Given the description of an element on the screen output the (x, y) to click on. 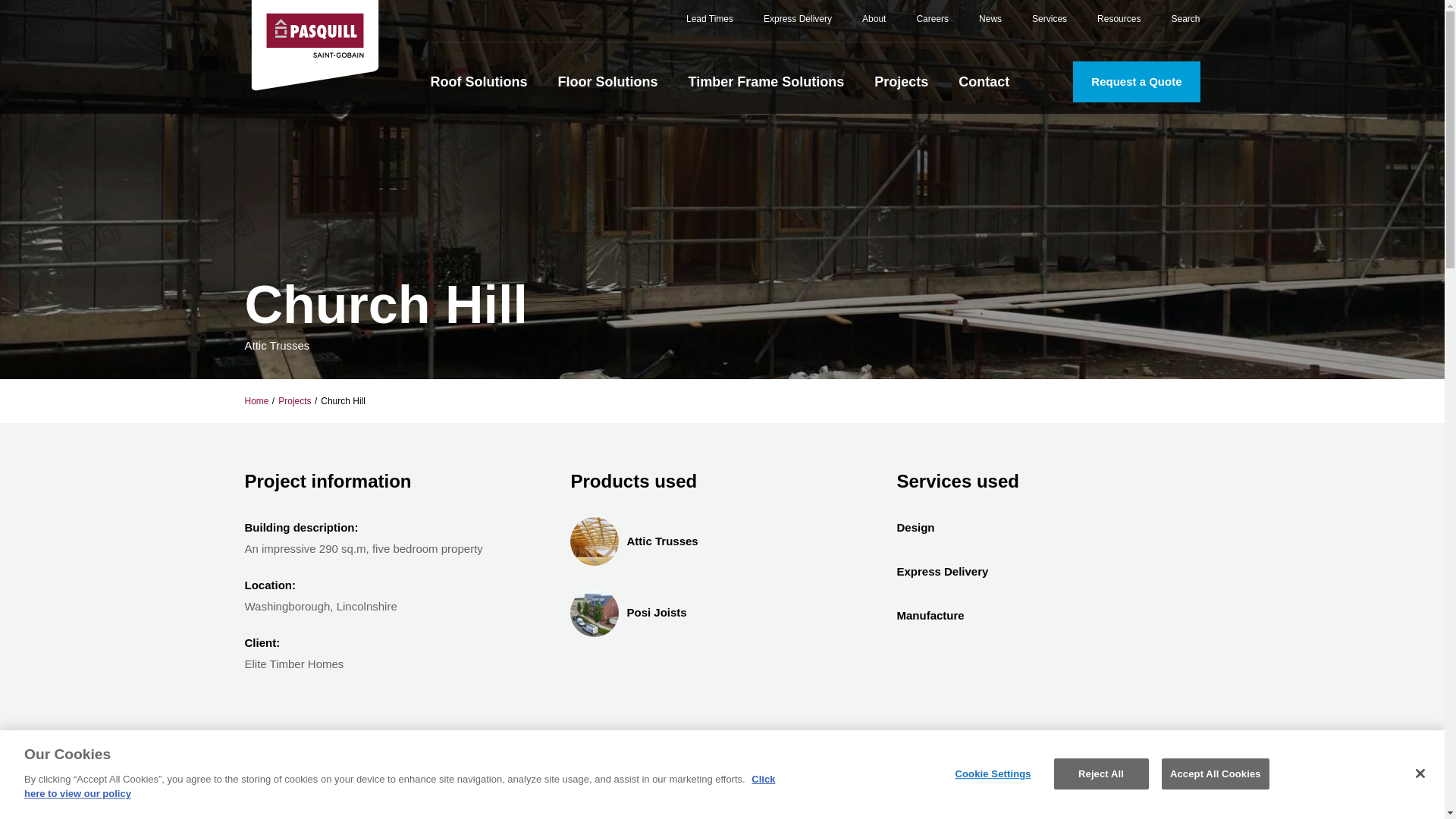
Search (1184, 25)
Services (1049, 25)
Lead Times (709, 25)
Express Delivery (796, 25)
Request a Quote (1136, 81)
Roof Solutions (478, 81)
Resources (1118, 25)
Careers (932, 25)
Floor Solutions (607, 81)
Timber Frame Solutions (765, 81)
